Given the description of an element on the screen output the (x, y) to click on. 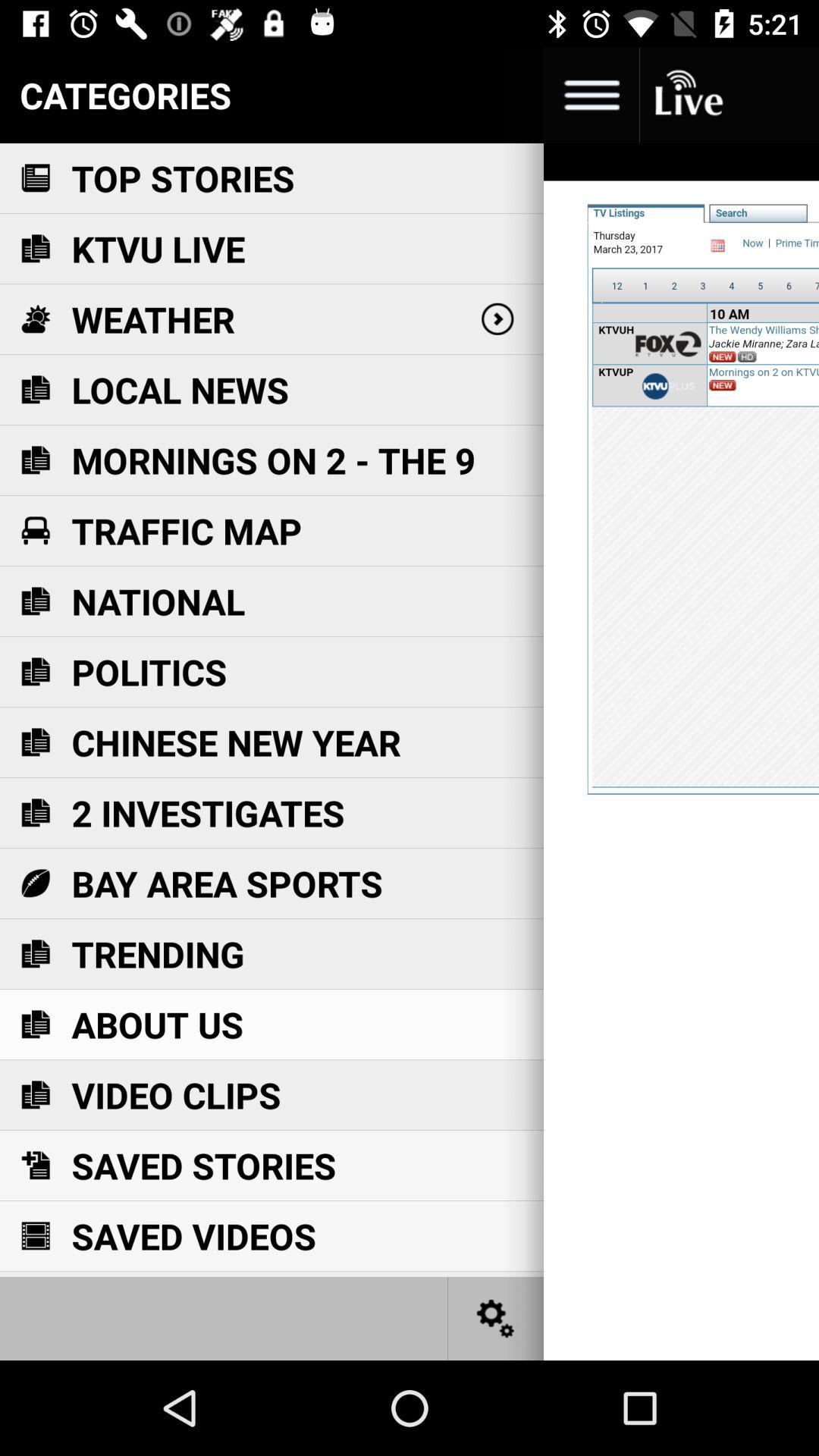
toggle app settings (495, 1318)
